Given the description of an element on the screen output the (x, y) to click on. 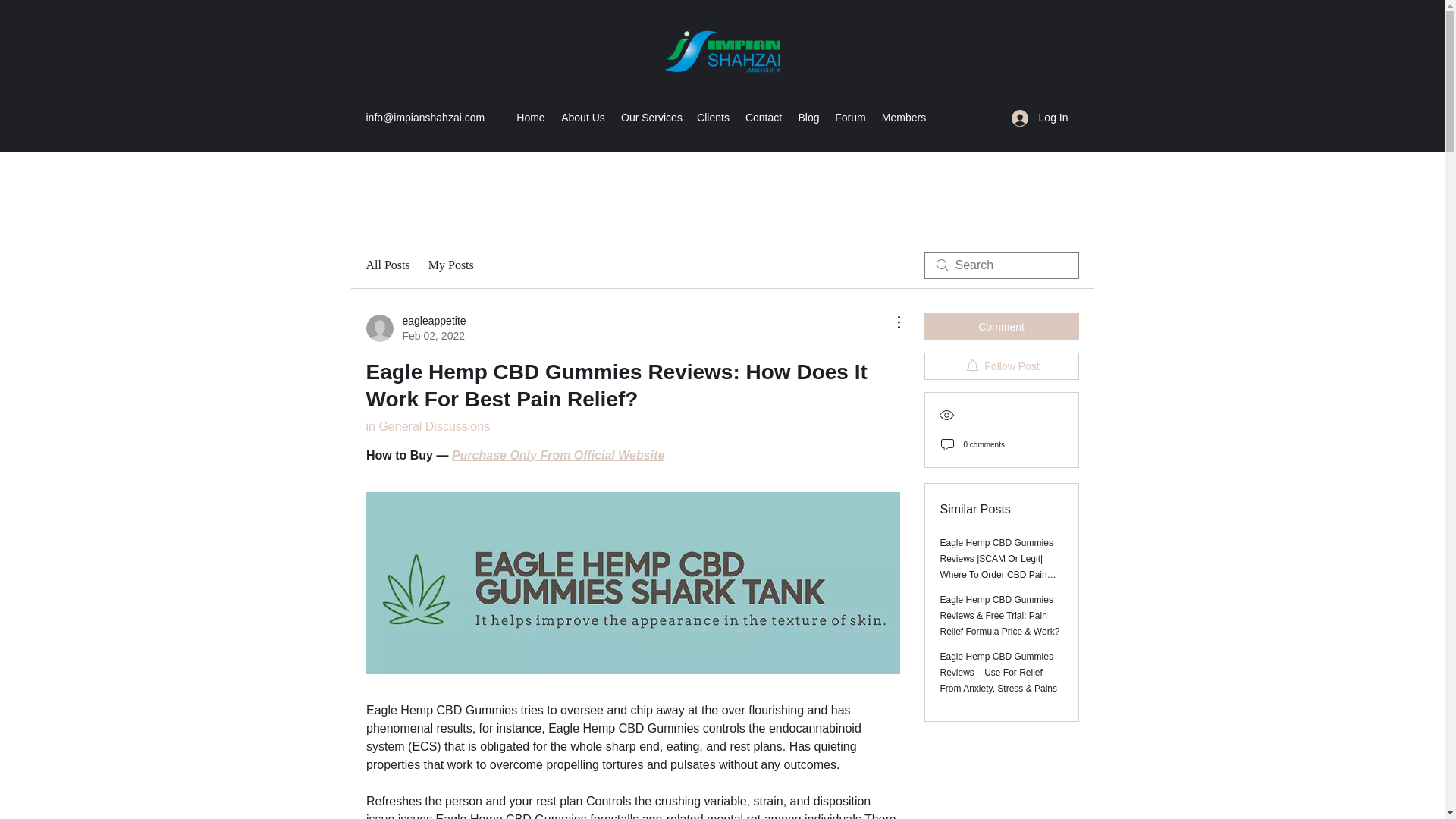
Members (903, 117)
in General Discussions (427, 426)
All Posts (387, 265)
About Us (582, 117)
Blog (808, 117)
My Posts (451, 265)
Contact (763, 117)
Log In (1039, 117)
Clients (712, 117)
